Given the description of an element on the screen output the (x, y) to click on. 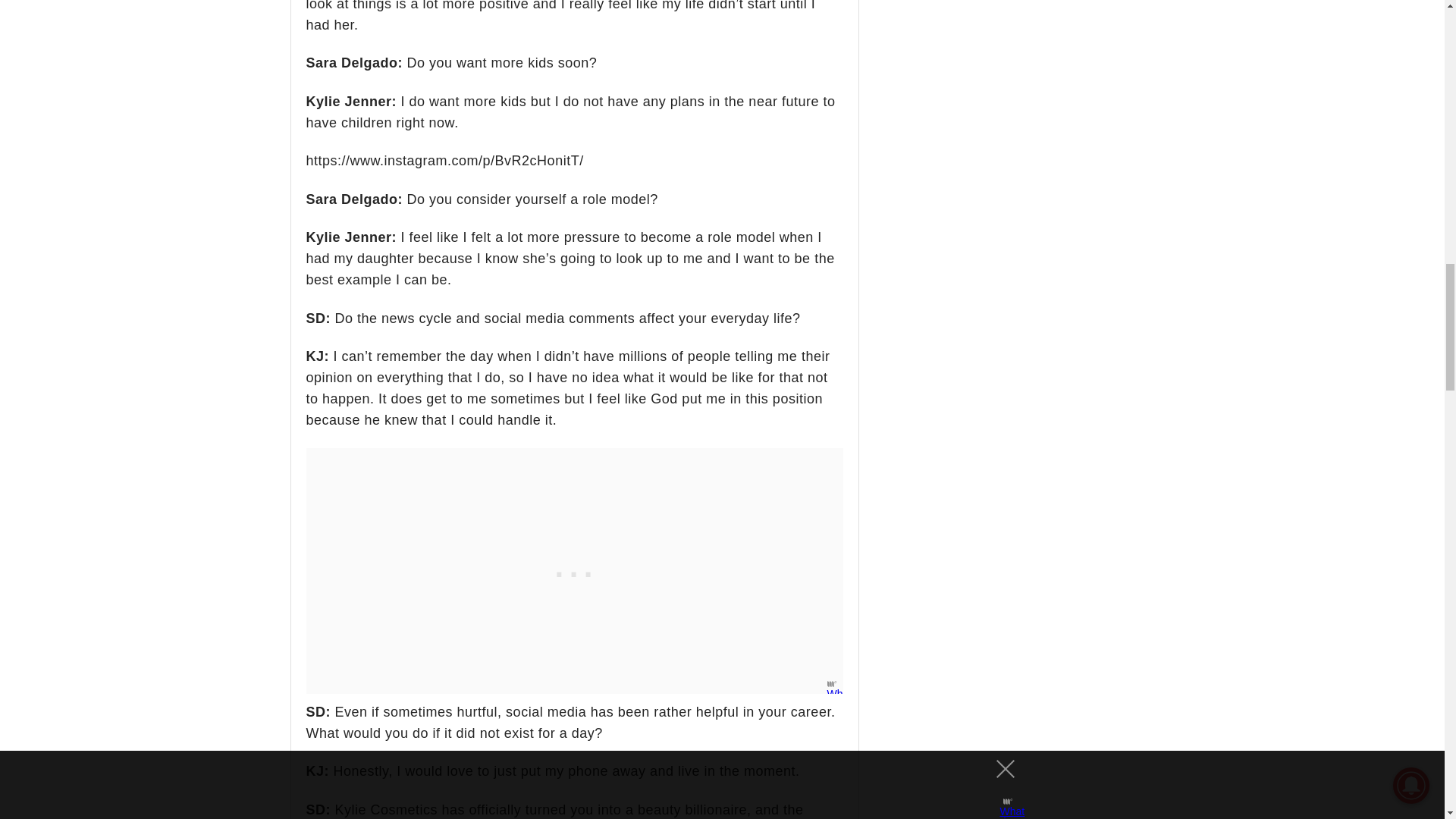
3rd party ad content (574, 570)
